Given the description of an element on the screen output the (x, y) to click on. 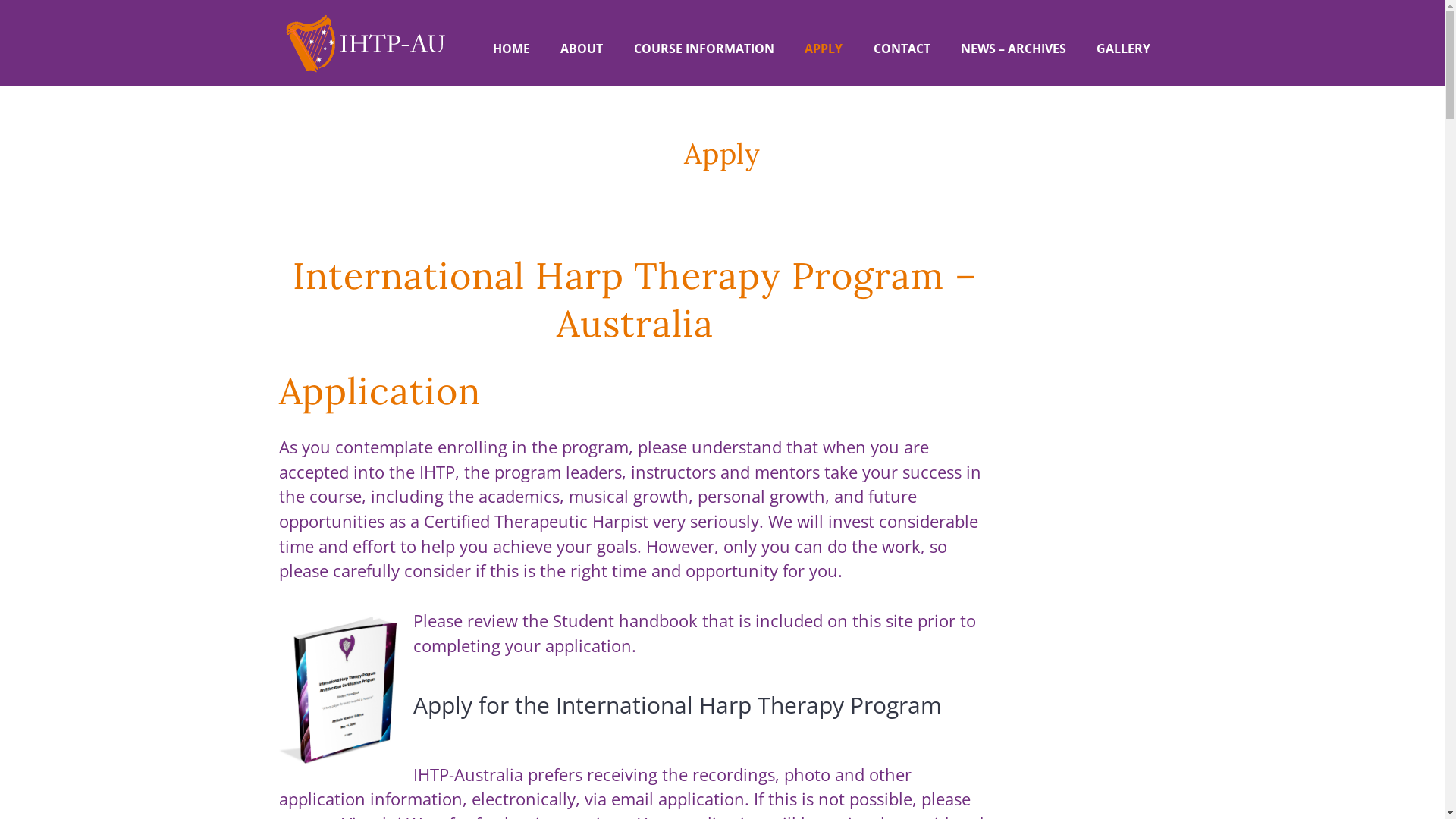
APPLY Element type: text (823, 49)
COURSE INFORMATION Element type: text (703, 49)
GALLERY Element type: text (1123, 49)
Student handbook Element type: text (624, 619)
HOME Element type: text (511, 49)
CONTACT Element type: text (900, 49)
ABOUT Element type: text (581, 49)
